Given the description of an element on the screen output the (x, y) to click on. 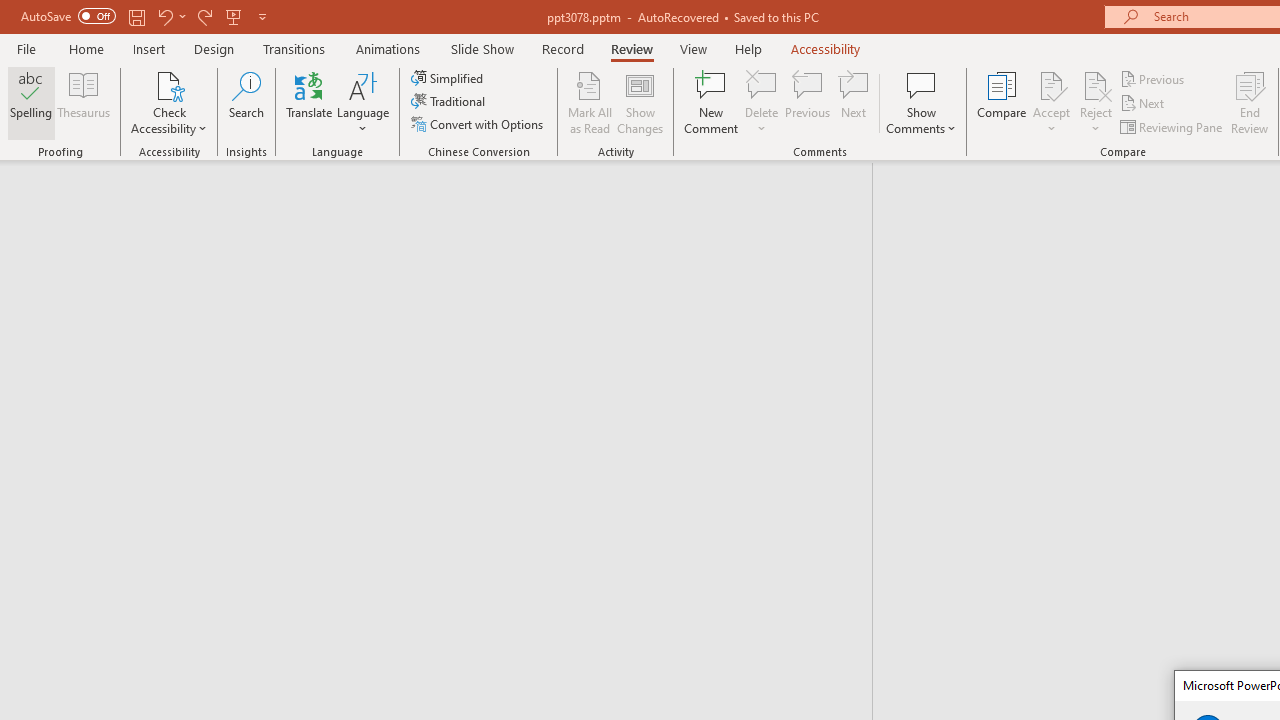
Compare (1002, 102)
Reject (1096, 102)
Traditional (449, 101)
Show Changes (639, 102)
Spelling... (31, 102)
